Given the description of an element on the screen output the (x, y) to click on. 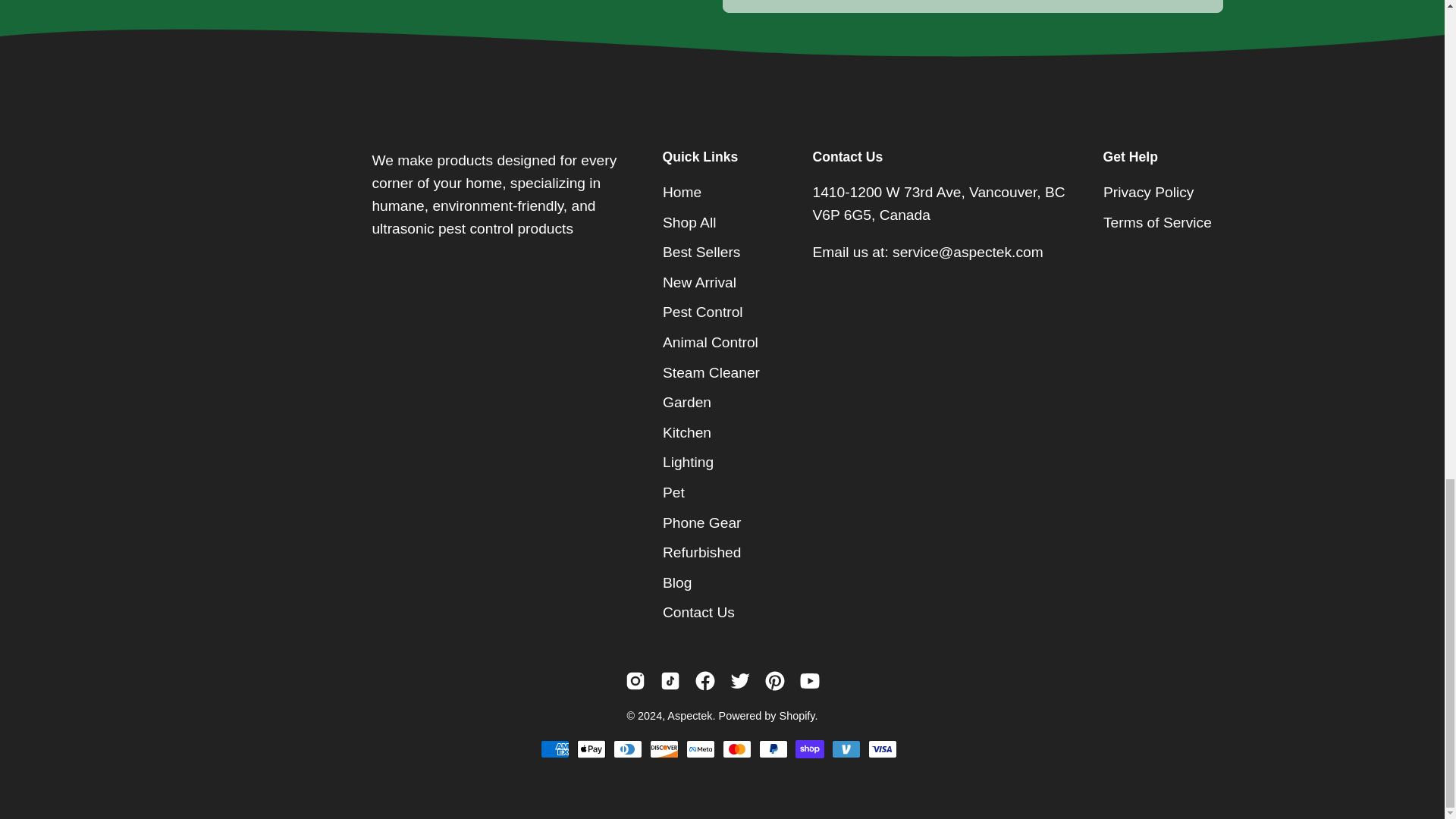
View Aspectek on Facebook (704, 680)
View Aspectek on Instagram (634, 680)
View Aspectek on Twitter (739, 680)
View Aspectek on Tiktok (669, 680)
View Aspectek on Youtube (809, 680)
View Aspectek on Pinterest (774, 680)
